Given the description of an element on the screen output the (x, y) to click on. 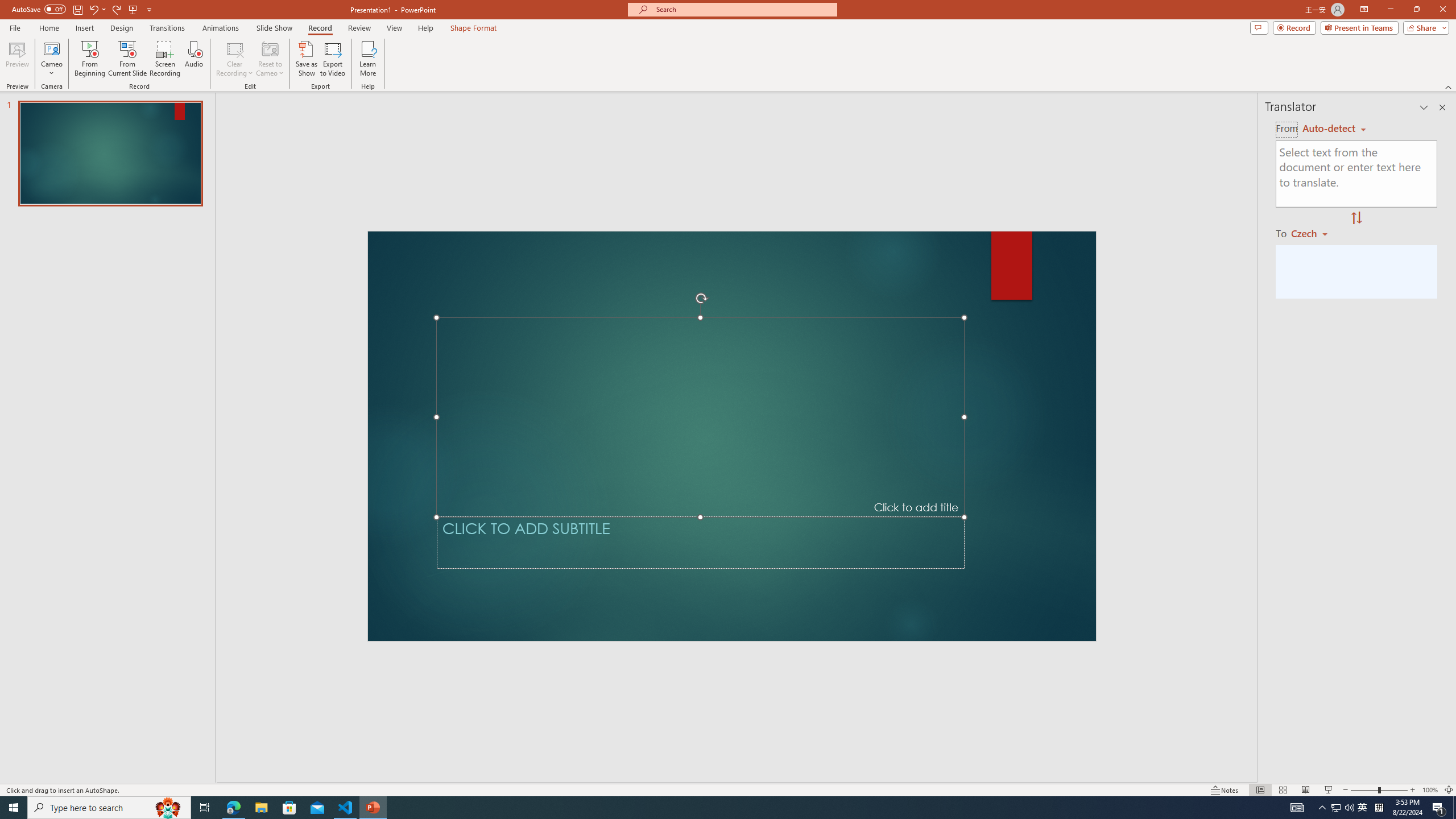
Learn More (368, 58)
